Given the description of an element on the screen output the (x, y) to click on. 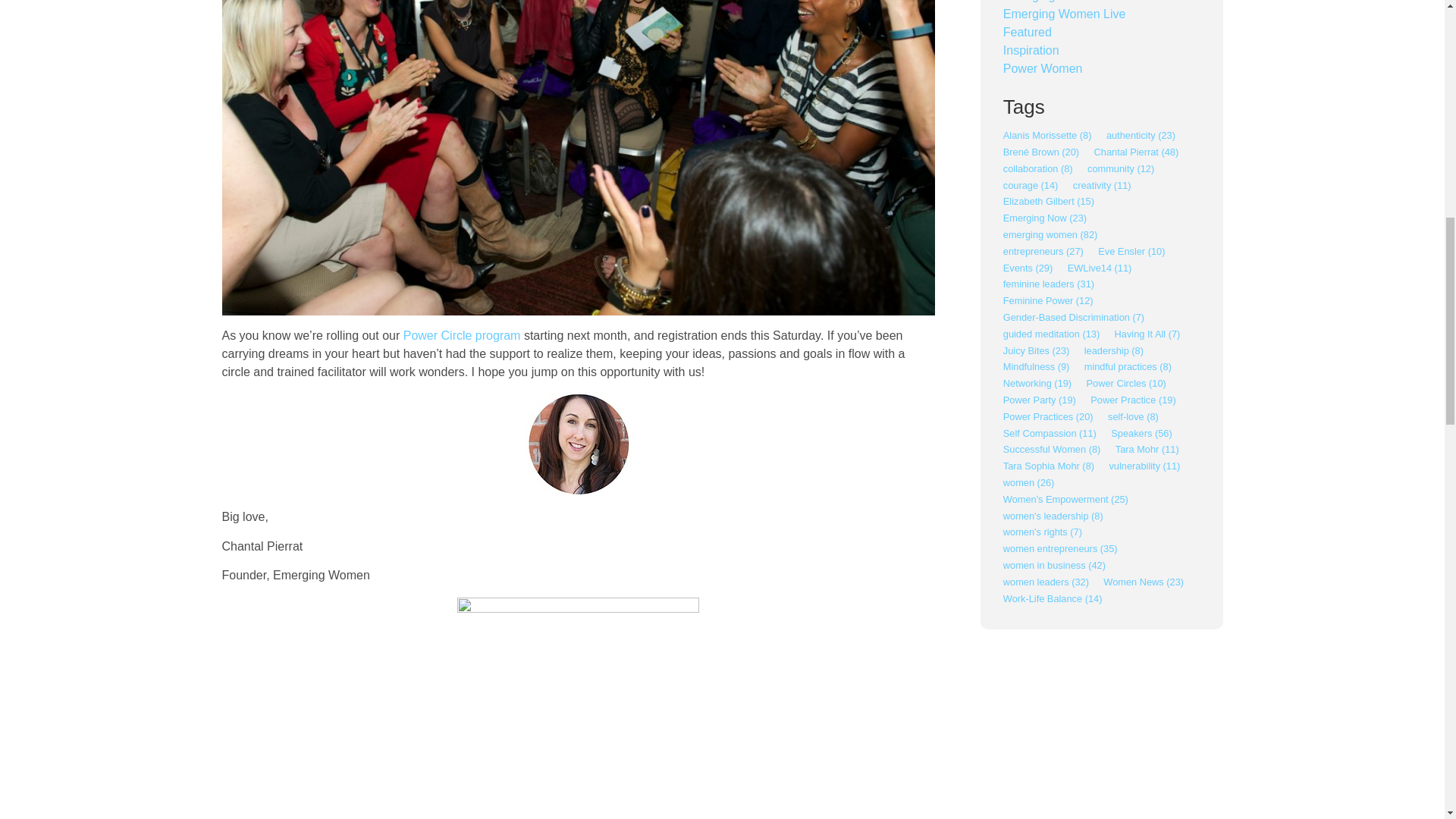
Power Circles (462, 335)
